Given the description of an element on the screen output the (x, y) to click on. 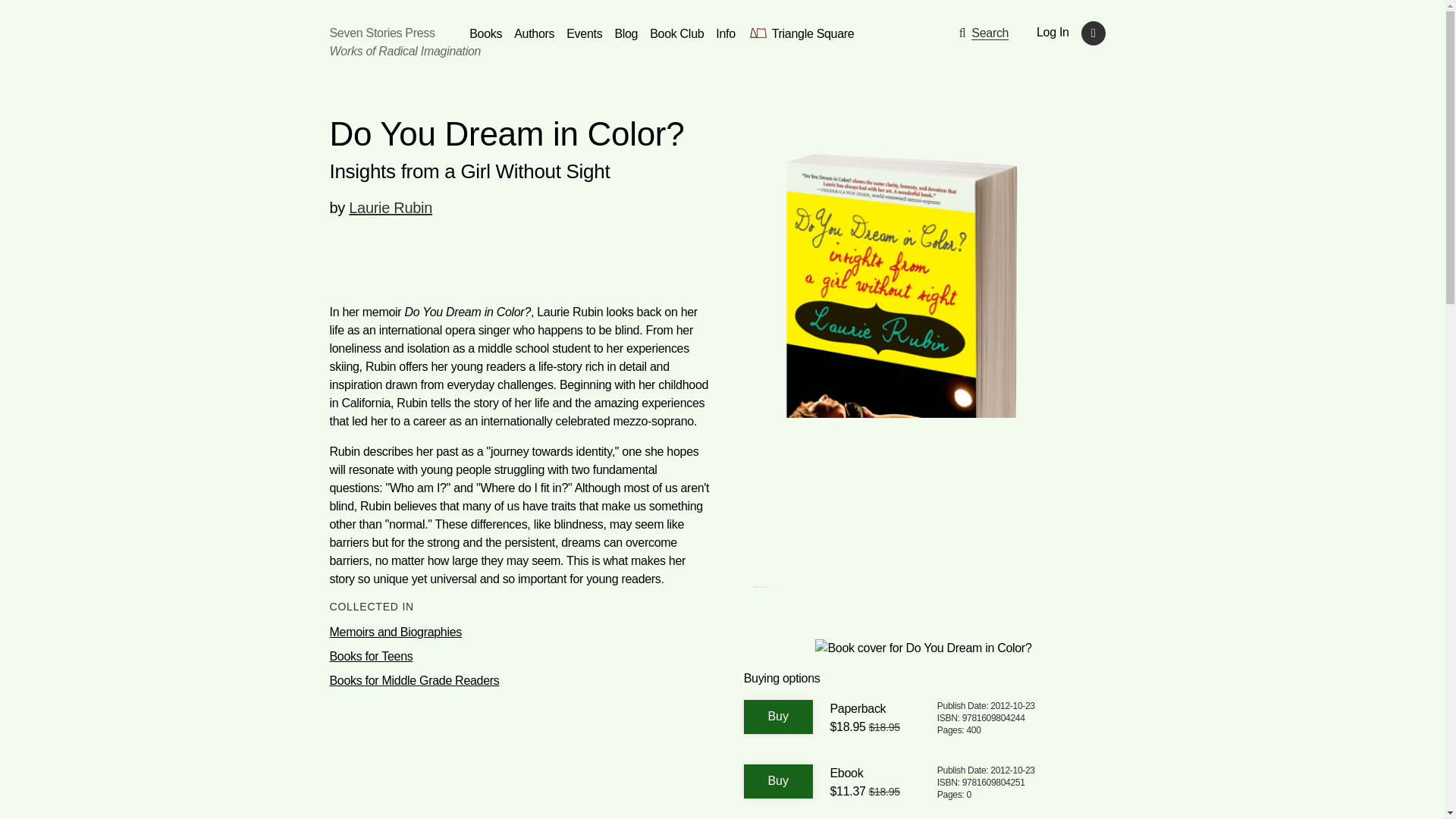
Laurie Rubin (390, 207)
Seven Stories Press (381, 32)
Books (485, 33)
Buy (778, 716)
Book Club (676, 33)
Events (584, 33)
Books for Teens (521, 656)
Memoirs and Biographies (521, 632)
